Given the description of an element on the screen output the (x, y) to click on. 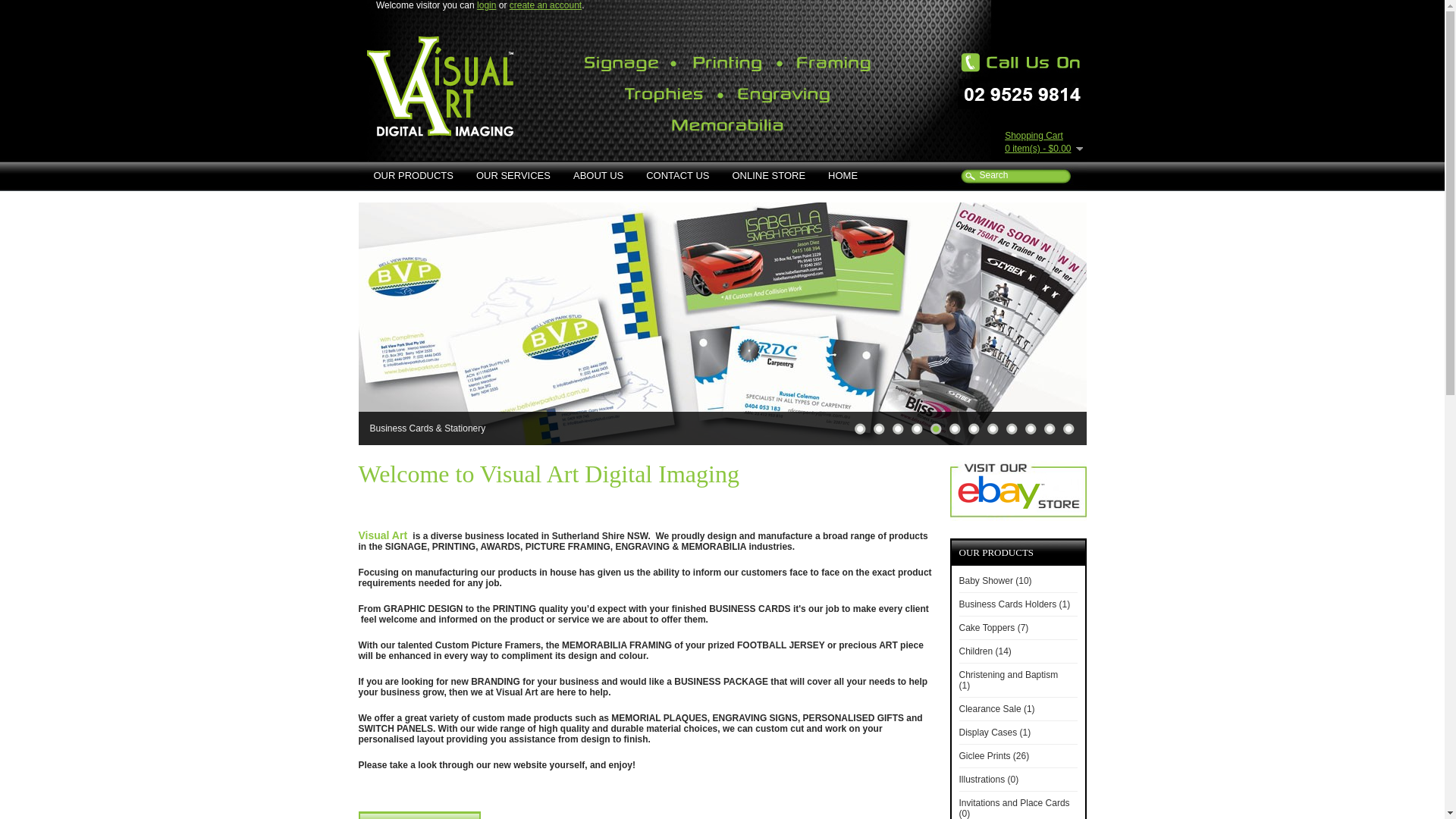
OUR SERVICES Element type: text (512, 175)
ABOUT US Element type: text (597, 175)
Illustrations (0) Element type: text (988, 779)
ONLINE STORE Element type: text (768, 175)
8 Element type: text (992, 428)
Clearance Sale (1) Element type: text (996, 708)
12 Element type: text (1068, 428)
Cake Toppers (7) Element type: text (993, 627)
4 Element type: text (916, 428)
Display Cases (1) Element type: text (994, 732)
Baby Shower (10) Element type: text (994, 580)
Christening and Baptism (1) Element type: text (1007, 679)
6 Element type: text (954, 428)
eBay Element type: hover (1017, 490)
Giclee Prints (26) Element type: text (993, 755)
login Element type: text (485, 5)
5 Element type: text (934, 428)
3 Element type: text (896, 428)
7 Element type: text (972, 428)
Children (14) Element type: text (984, 651)
11 Element type: text (1048, 428)
OUR PRODUCTS Element type: text (413, 175)
Shopping Cart
0 item(s) - $0.00 Element type: text (1043, 141)
CONTACT US Element type: text (677, 175)
Business Cards Holders (1) Element type: text (1014, 604)
1 Element type: text (858, 428)
create an account Element type: text (545, 5)
HOME Element type: text (842, 175)
10 Element type: text (1030, 428)
2 Element type: text (878, 428)
Search Element type: text (1035, 174)
9 Element type: text (1010, 428)
